Given the description of an element on the screen output the (x, y) to click on. 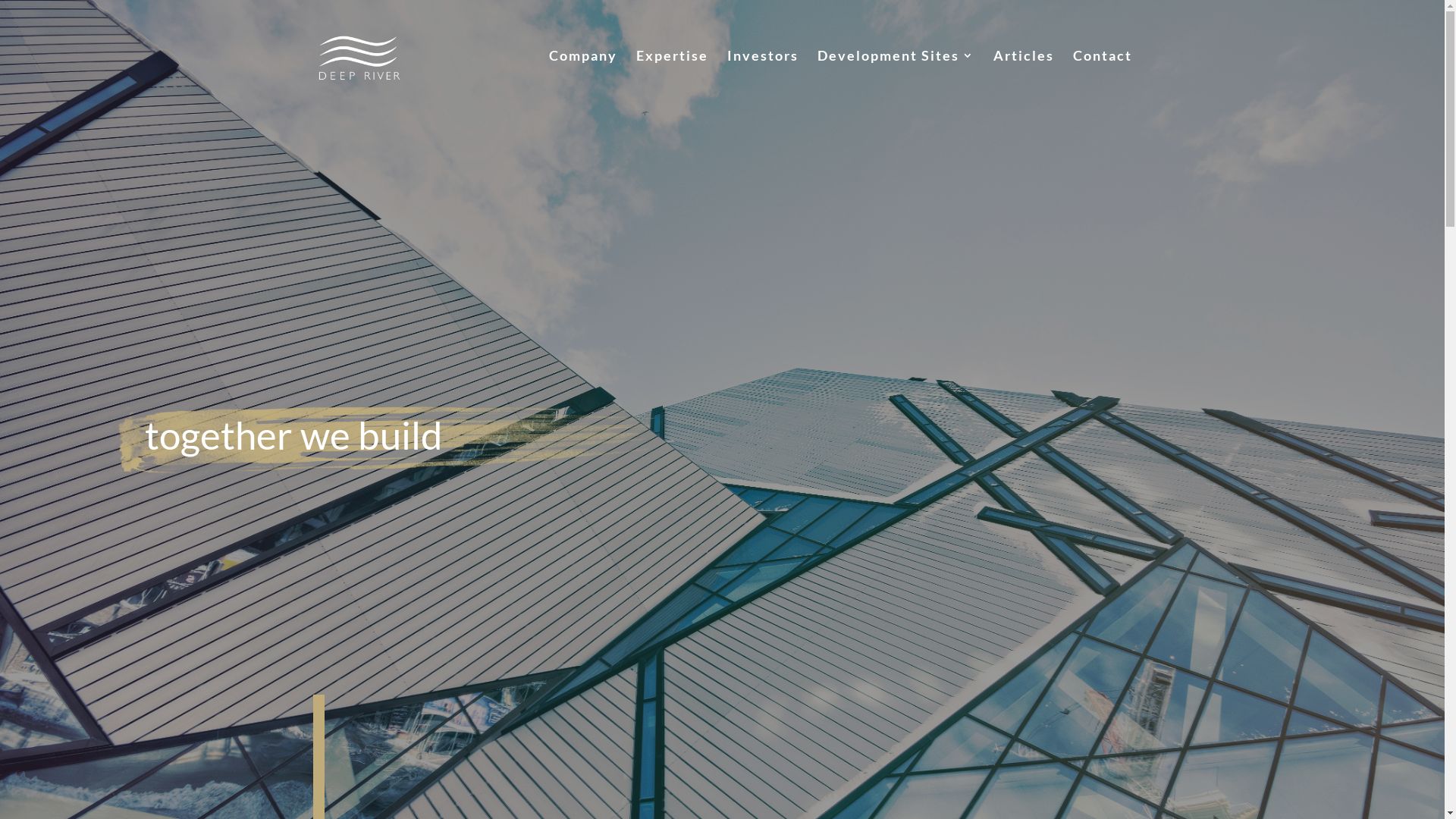
Expertise Element type: text (671, 80)
Development Sites Element type: text (895, 80)
Contact Element type: text (1101, 80)
Articles Element type: text (1023, 80)
Company Element type: text (583, 80)
Investors Element type: text (761, 80)
